Given the description of an element on the screen output the (x, y) to click on. 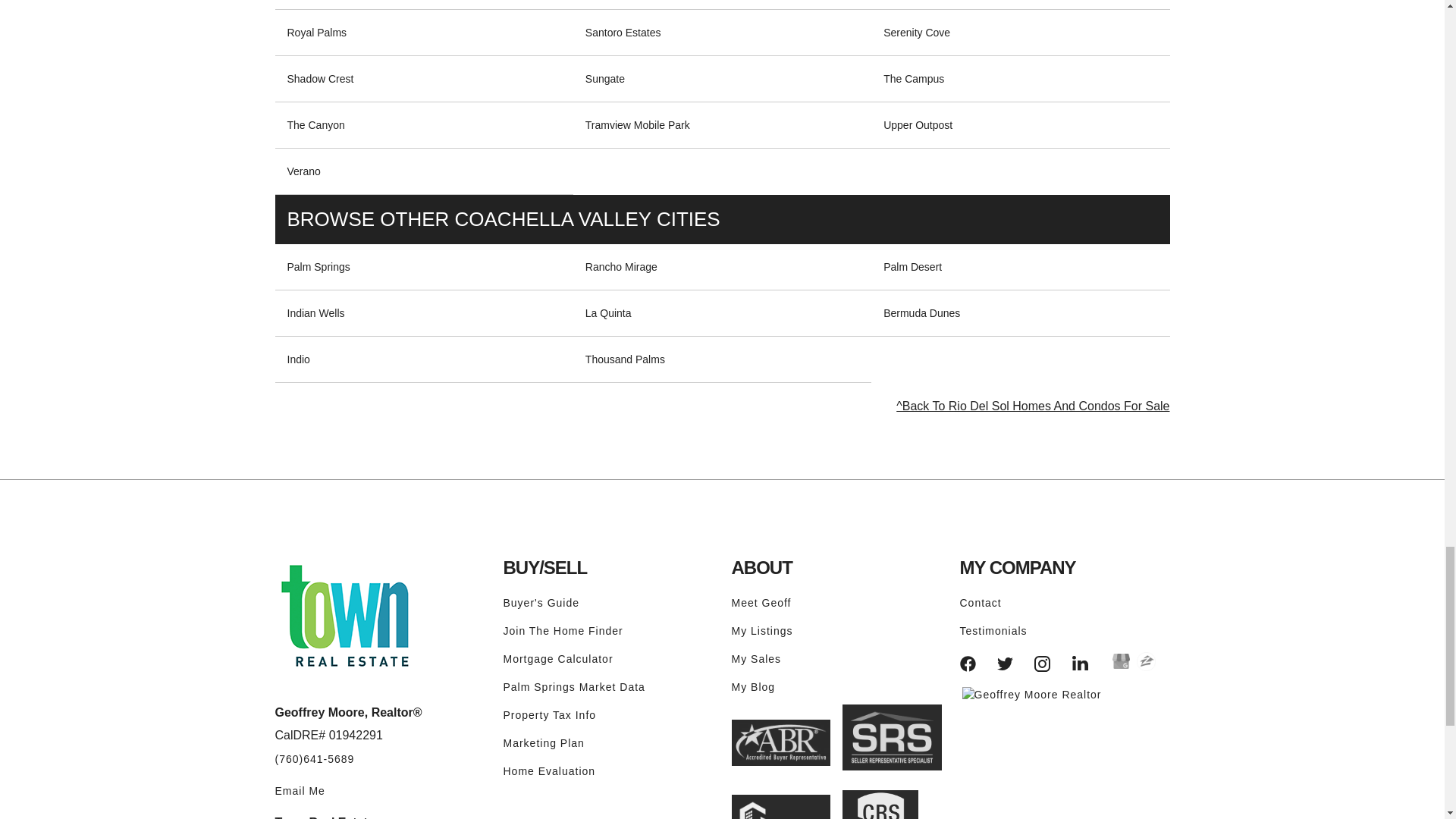
LinkedIn (1079, 663)
Twitter (1005, 663)
Facebook (967, 663)
